Given the description of an element on the screen output the (x, y) to click on. 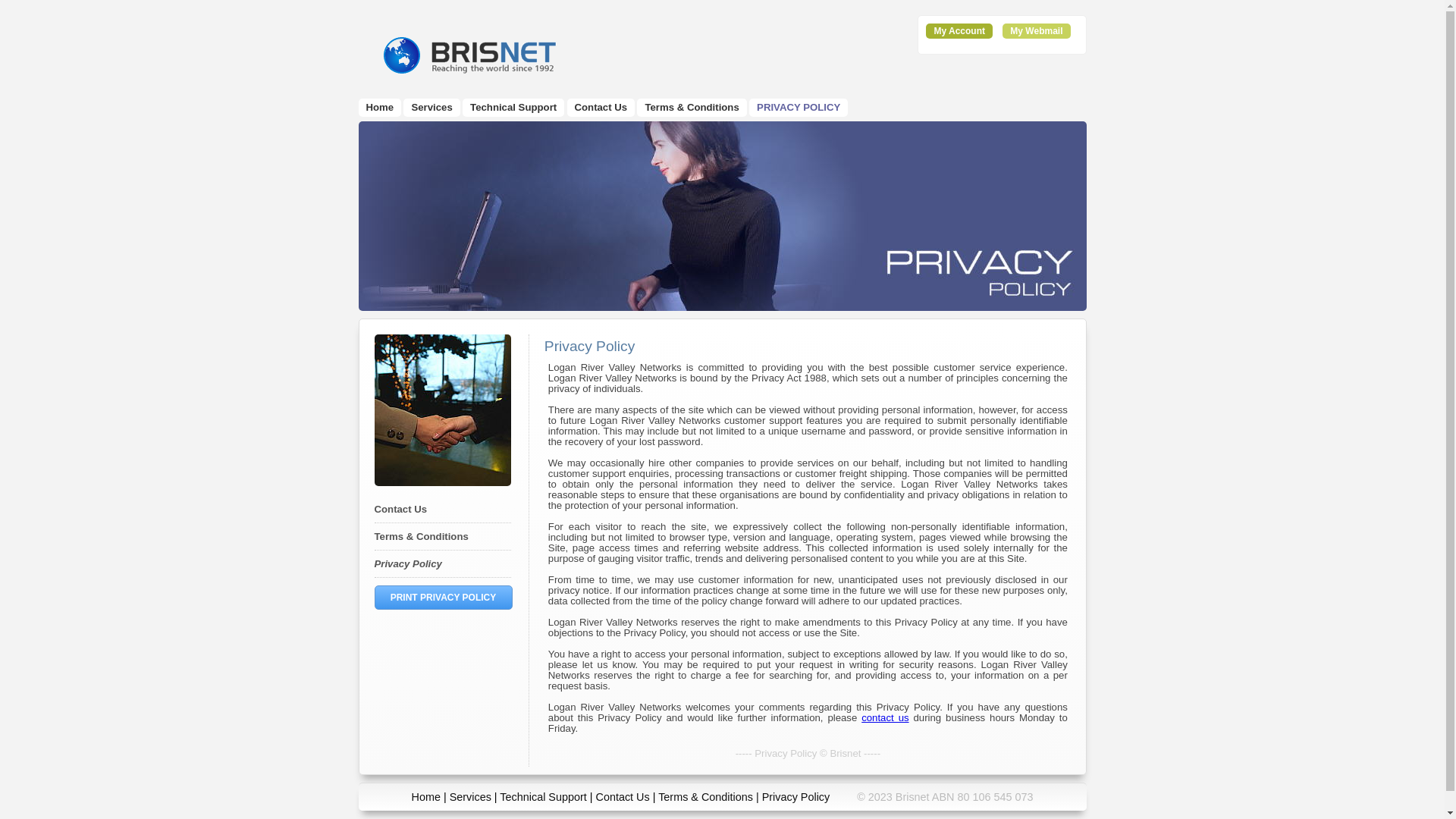
Terms & Conditions Element type: text (421, 536)
Contact Us Element type: text (400, 508)
Contact Us Element type: text (622, 796)
Terms & Conditions Element type: text (691, 106)
Home Element type: text (379, 106)
My Account Element type: text (959, 30)
Brisnet Element type: hover (468, 54)
Technical Support Element type: text (542, 796)
Privacy Policy Element type: text (796, 796)
PRIVACY POLICY Element type: text (798, 106)
Services Element type: text (470, 796)
Home Element type: text (425, 796)
PRINT PRIVACY POLICY Element type: text (443, 597)
Contact Us Element type: text (600, 106)
Terms & Conditions | Element type: text (710, 796)
contact us Element type: text (884, 717)
Services Element type: text (431, 106)
My Webmail Element type: text (1036, 30)
Technical Support Element type: text (513, 106)
Privacy Policy Element type: text (408, 563)
